Given the description of an element on the screen output the (x, y) to click on. 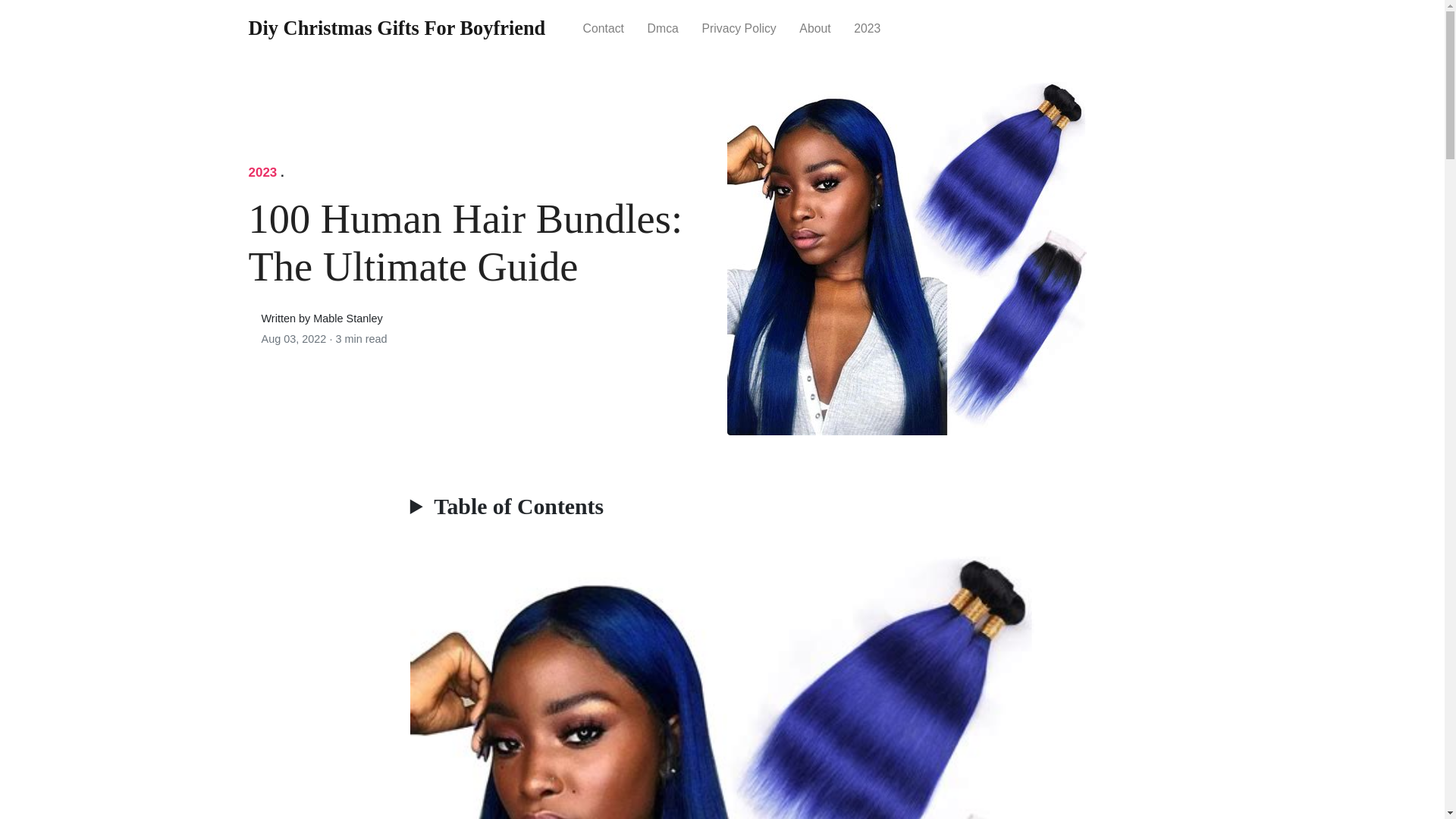
2023 (263, 172)
About (815, 27)
2023 (263, 172)
2023 (867, 27)
Privacy Policy (738, 27)
Contact (602, 27)
Dmca (662, 27)
Diy Christmas Gifts For Boyfriend (397, 28)
2023 (867, 27)
